Given the description of an element on the screen output the (x, y) to click on. 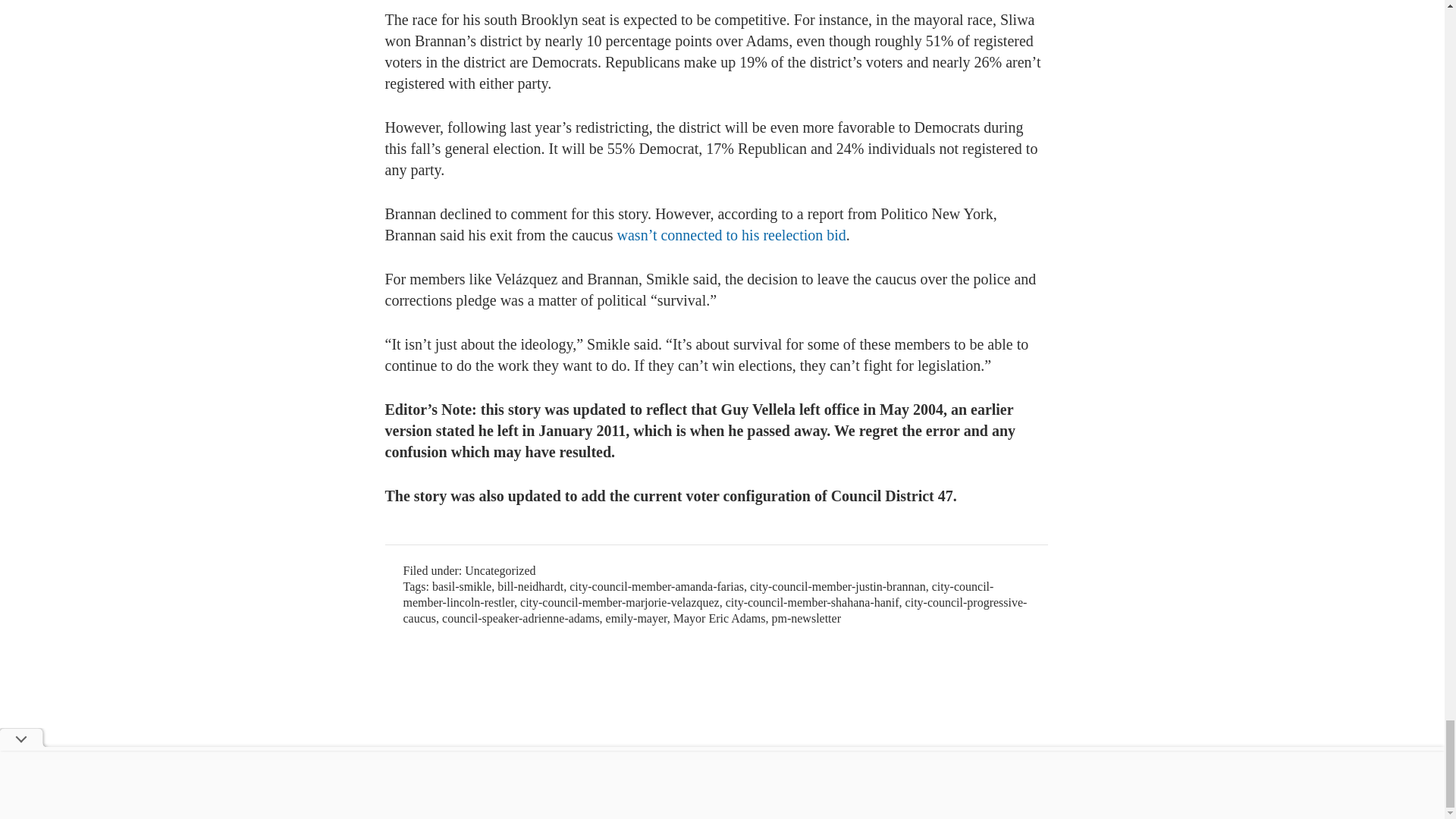
3rd party ad content (661, 678)
